Given the description of an element on the screen output the (x, y) to click on. 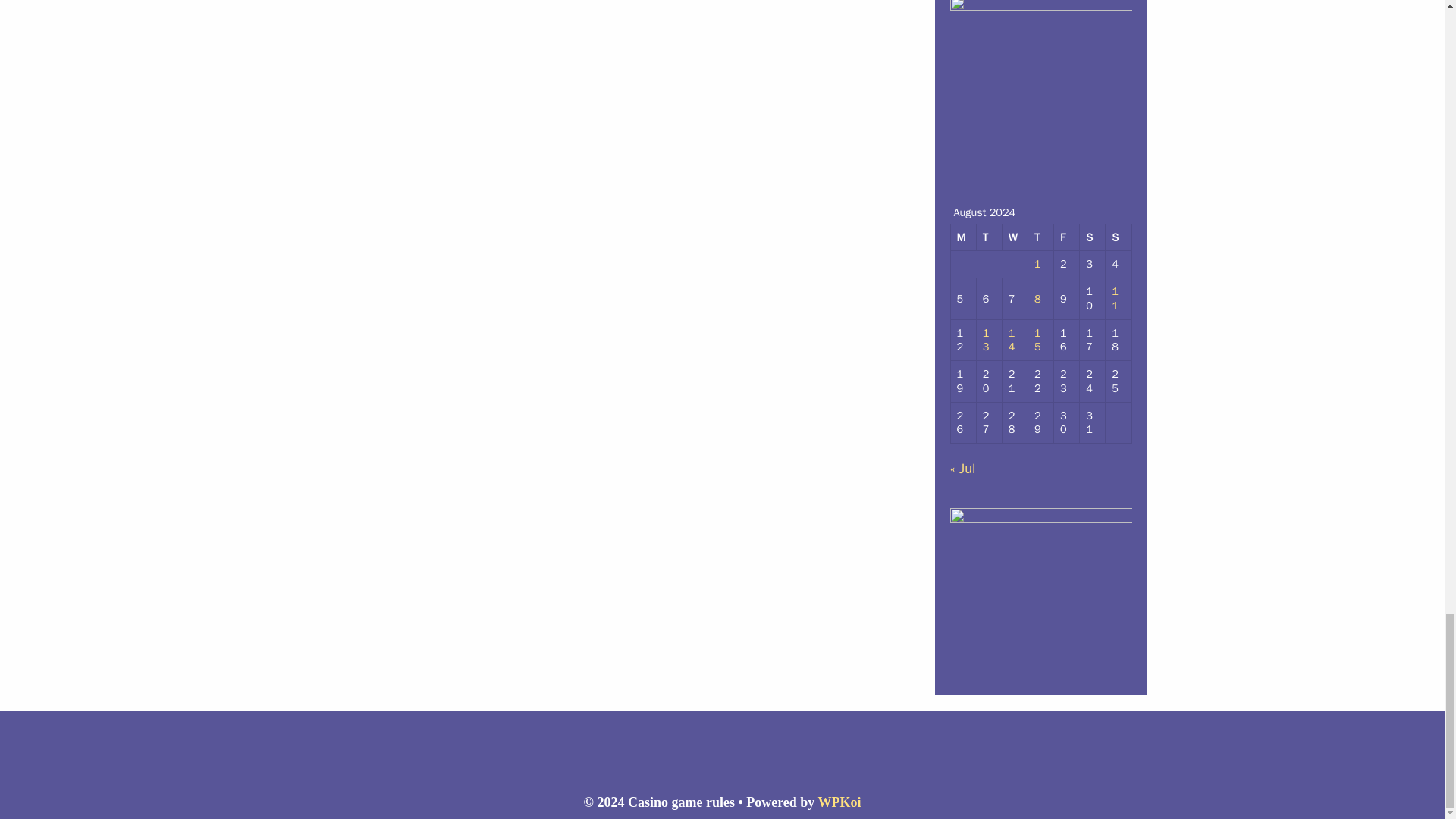
Tuesday (989, 237)
Saturday (1092, 237)
Thursday (1040, 237)
Monday (963, 237)
Friday (1067, 237)
Wednesday (1015, 237)
